Given the description of an element on the screen output the (x, y) to click on. 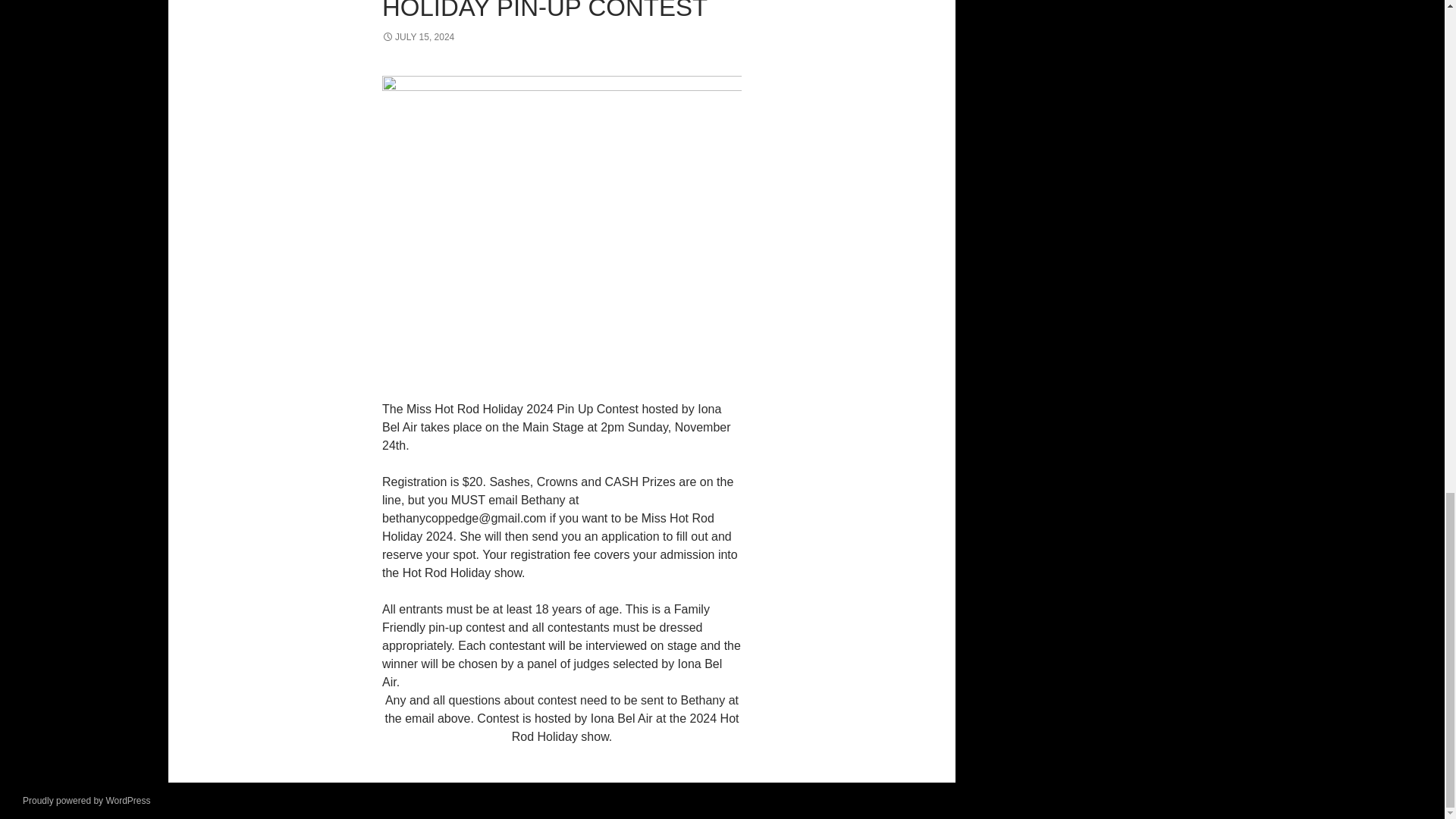
Proudly powered by WordPress (87, 800)
JULY 15, 2024 (417, 36)
